Given the description of an element on the screen output the (x, y) to click on. 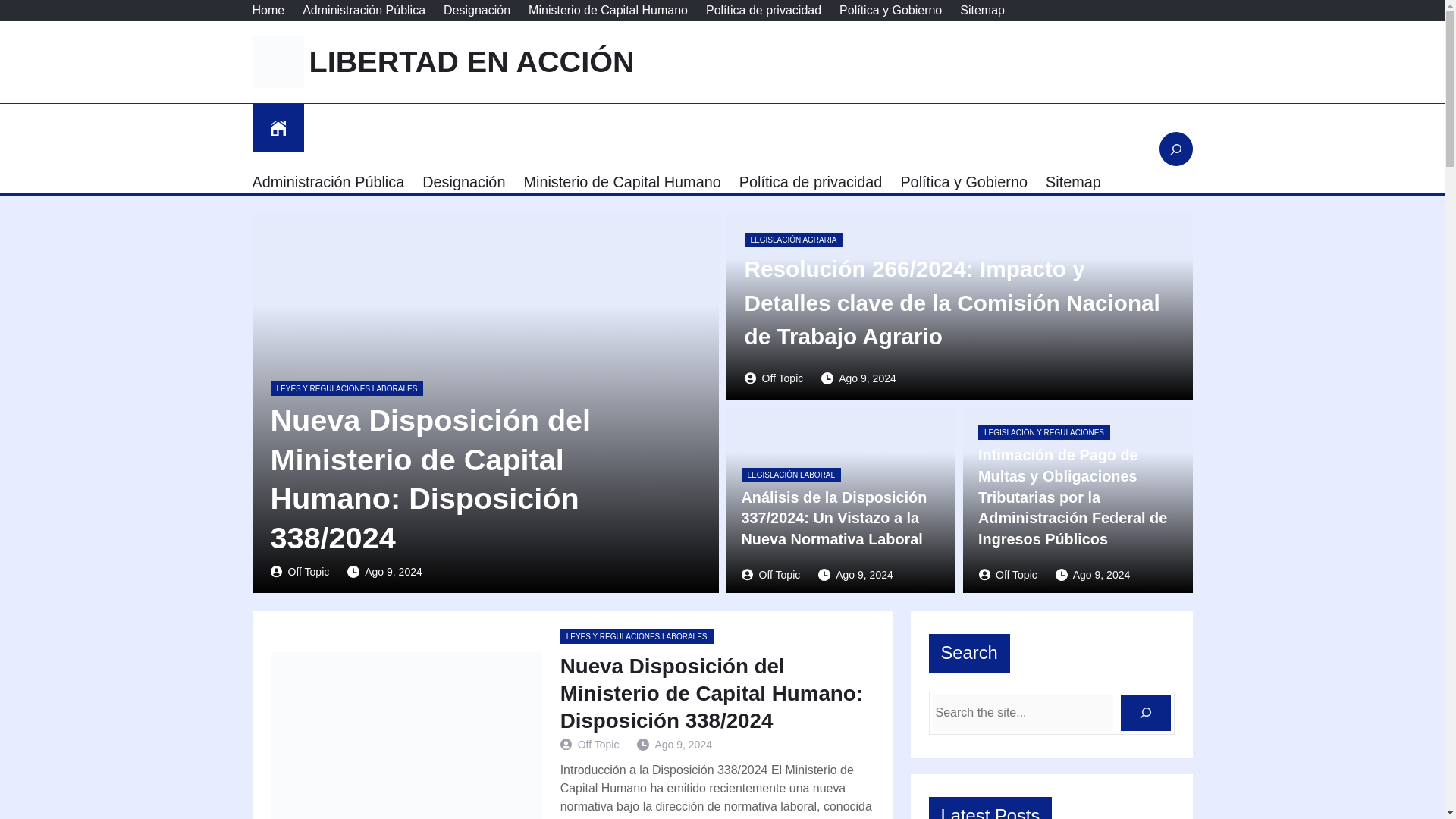
LEYES Y REGULACIONES LABORALES (346, 388)
Ministerio de Capital Humano (607, 10)
Ministerio de Capital Humano (621, 181)
Sitemap (1072, 181)
LEYES Y REGULACIONES LABORALES (636, 636)
Sitemap (981, 10)
Home (267, 10)
